Given the description of an element on the screen output the (x, y) to click on. 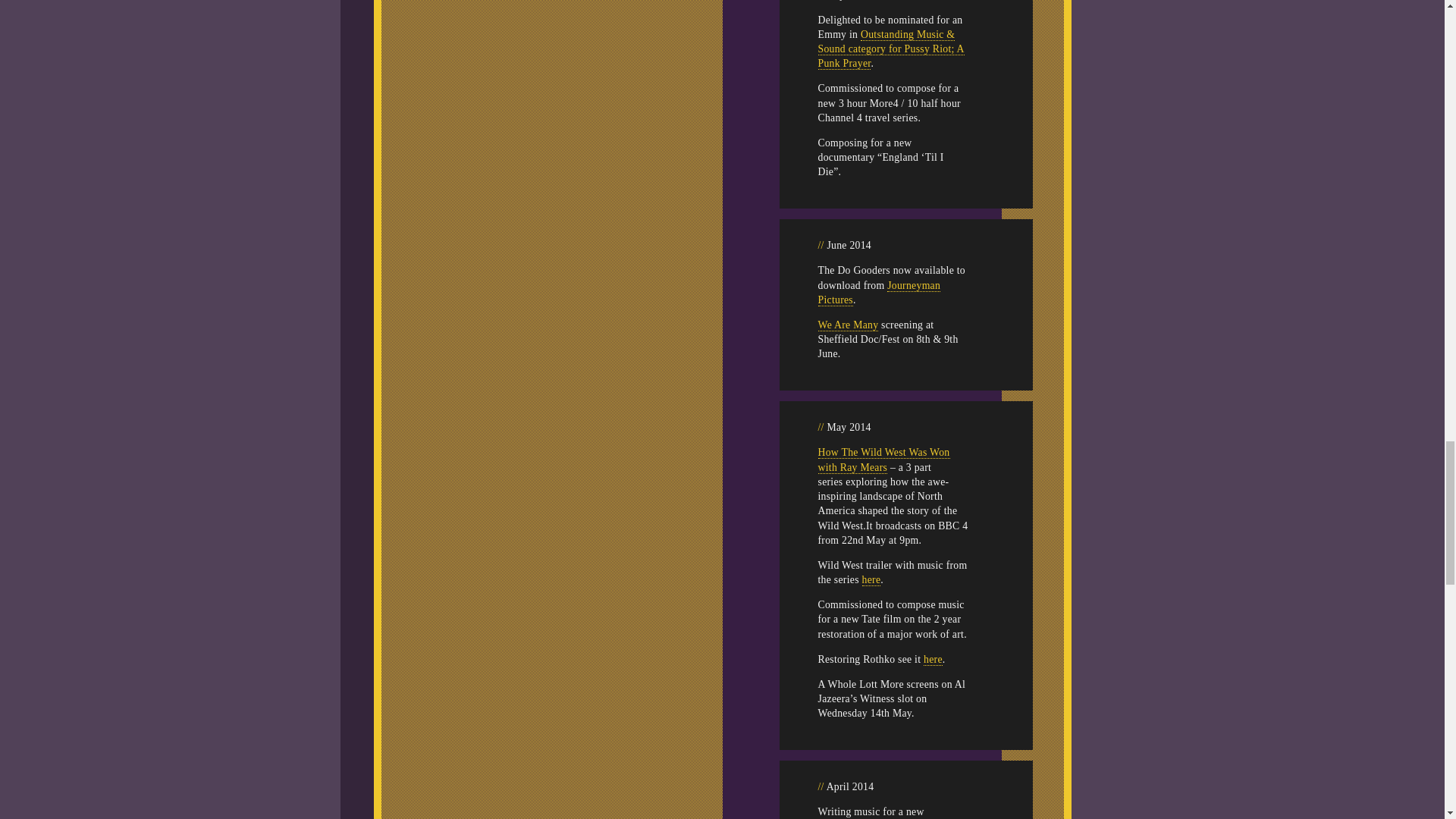
here (932, 659)
here (870, 580)
Journeyman Pictures (878, 292)
We Are Many (846, 325)
How The Wild West Was Won with Ray Mears (882, 459)
